Given the description of an element on the screen output the (x, y) to click on. 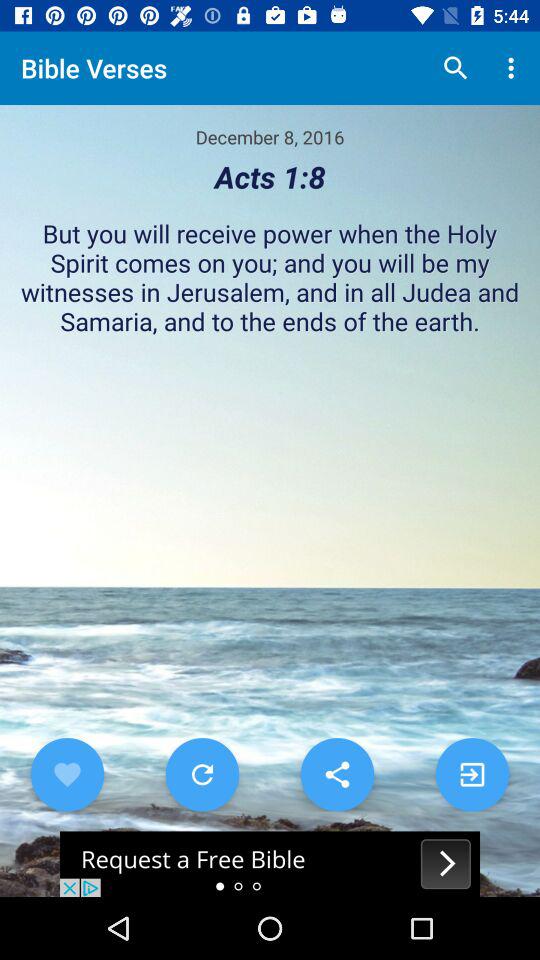
share with others (337, 774)
